Given the description of an element on the screen output the (x, y) to click on. 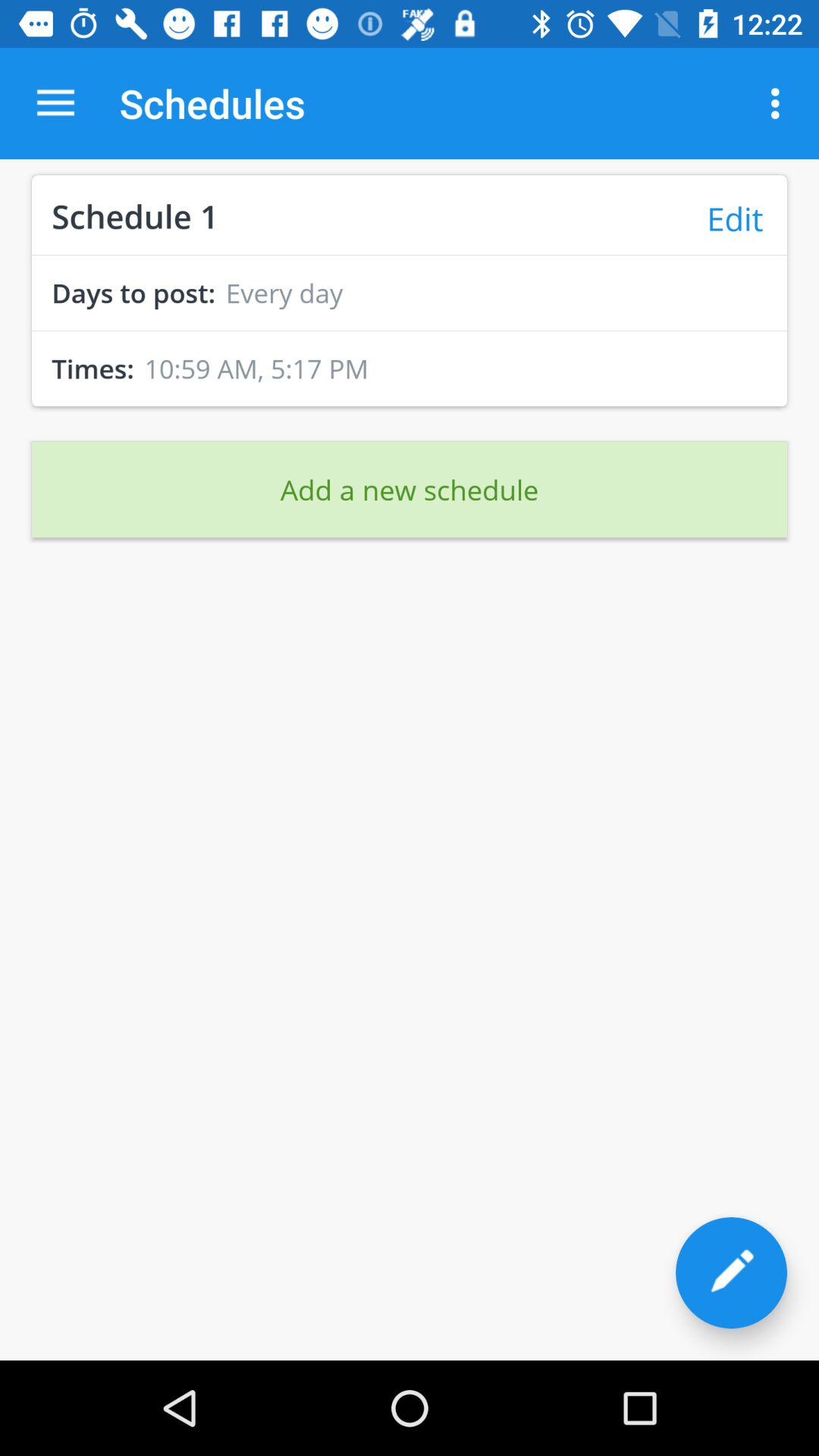
click the item to the right of the days to post: icon (283, 292)
